Given the description of an element on the screen output the (x, y) to click on. 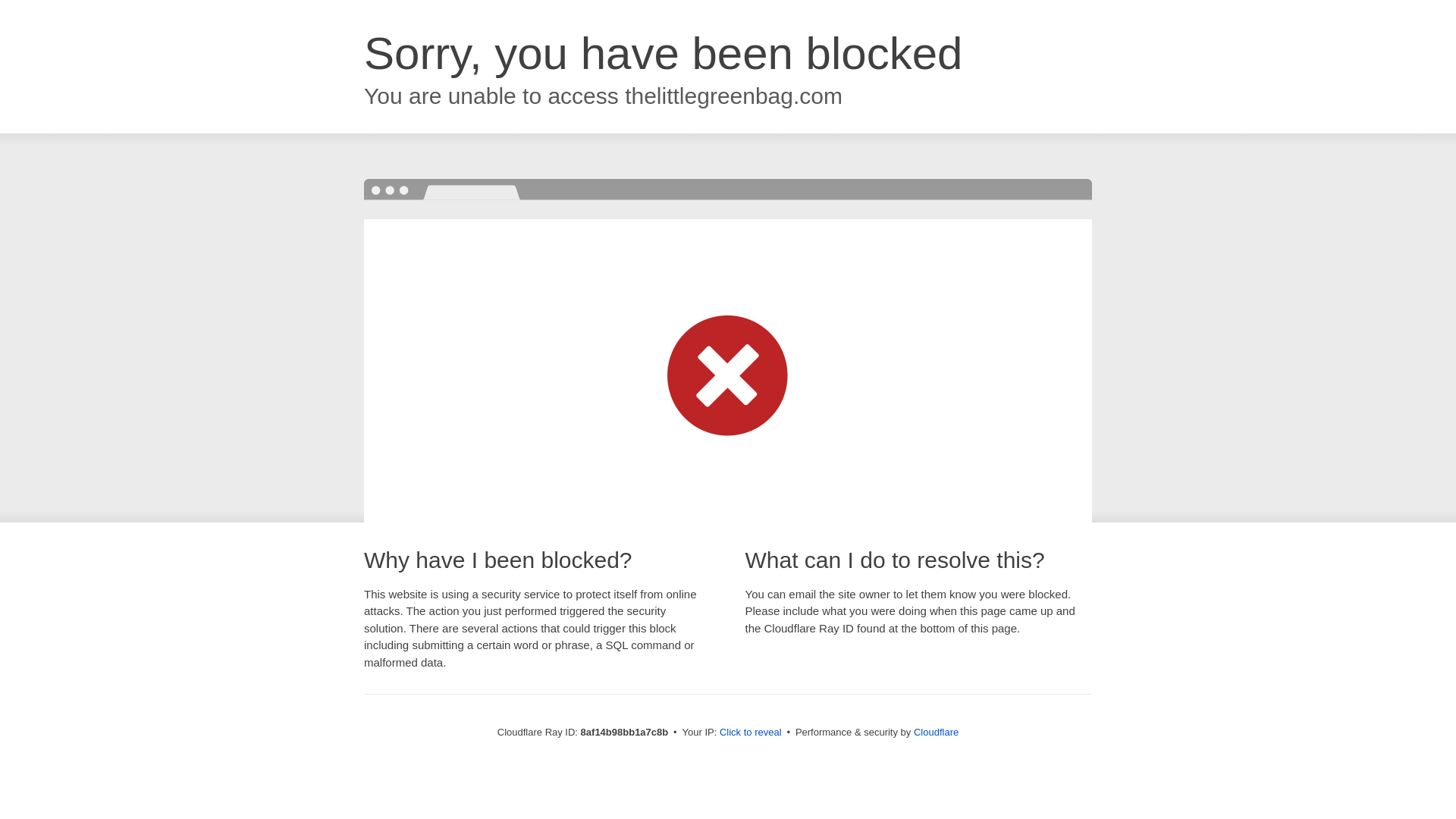
Click to reveal (750, 732)
Cloudflare (936, 731)
